Given the description of an element on the screen output the (x, y) to click on. 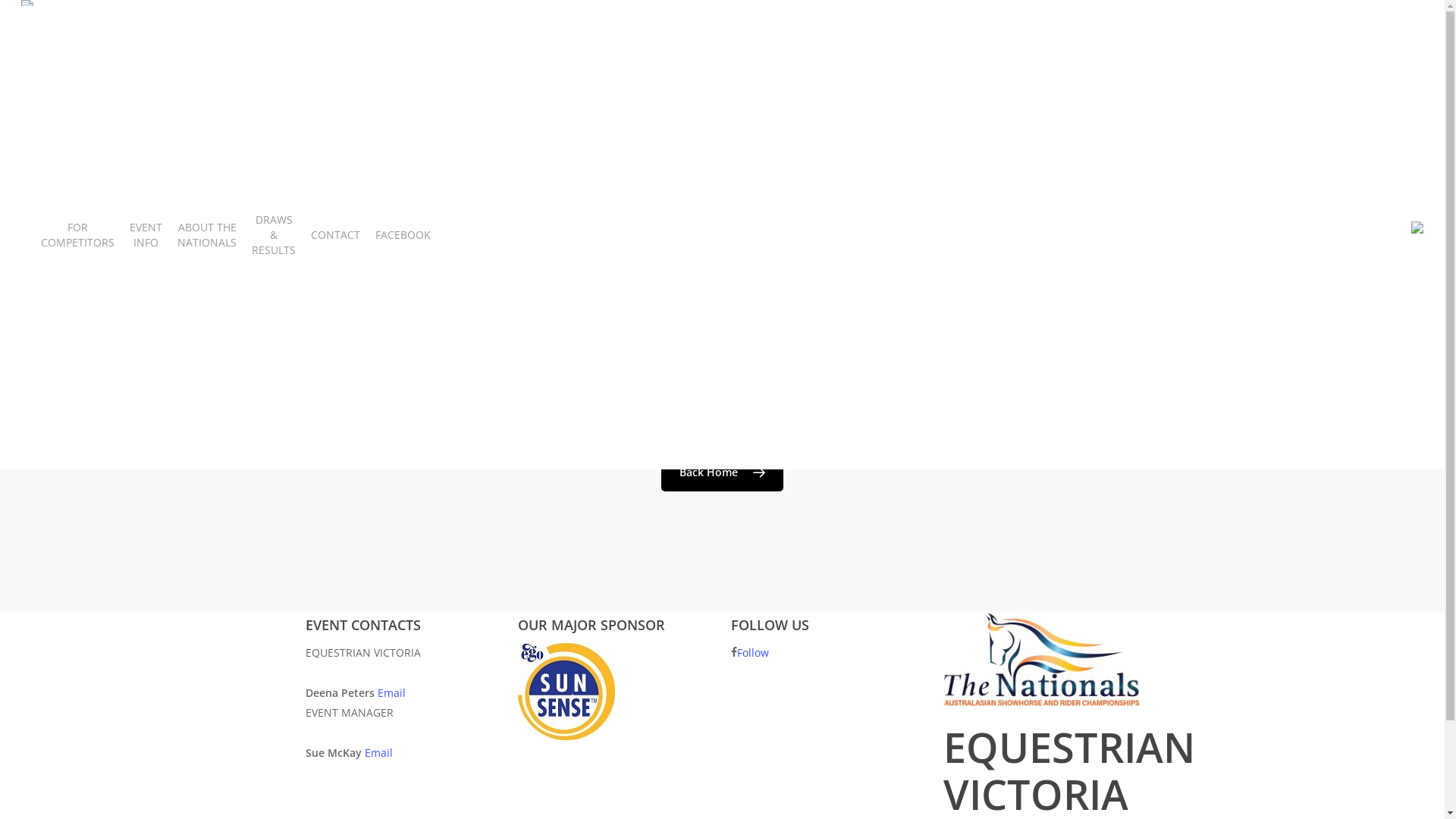
CONTACT Element type: text (335, 234)
EVENT INFO Element type: text (145, 234)
ABOUT THE NATIONALS Element type: text (206, 234)
DRAWS & RESULTS Element type: text (273, 234)
Email Element type: text (391, 692)
Email Element type: text (378, 752)
FOR COMPETITORS Element type: text (77, 234)
Back Home Element type: text (722, 472)
FACEBOOK Element type: text (402, 234)
Follow Element type: text (752, 652)
